Given the description of an element on the screen output the (x, y) to click on. 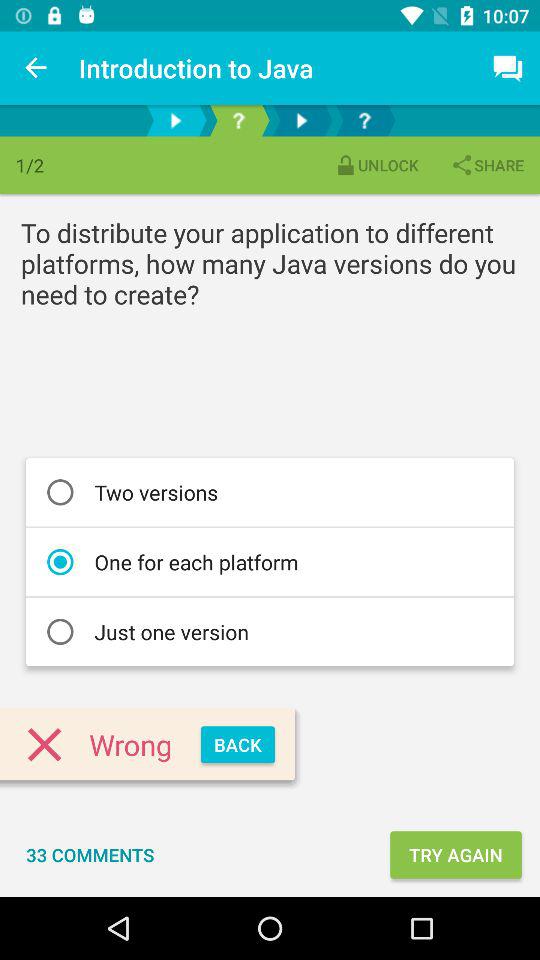
choose the item to the right of the unlock (487, 164)
